Given the description of an element on the screen output the (x, y) to click on. 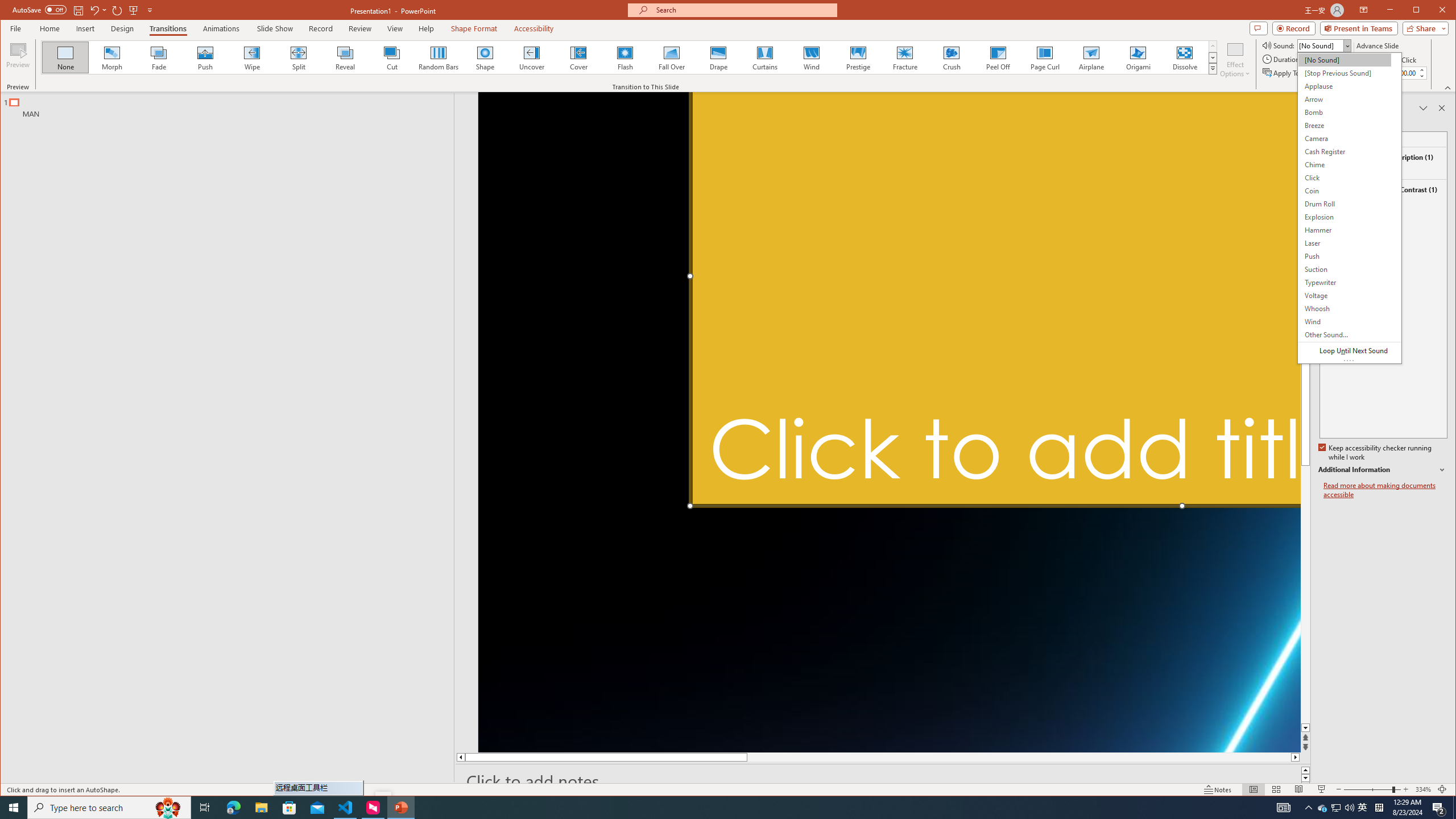
Row Down (1212, 57)
Ribbon Display Options (1364, 9)
Page down (1305, 603)
System (1335, 807)
Page Curl (10, 10)
Random Bars (1045, 57)
Class: MsoCommandBar (437, 57)
Keep accessibility checker running while I work (728, 789)
AutomationID: 4105 (1375, 452)
Tray Input Indicator - Chinese (Simplified, China) (1283, 807)
Fade (1378, 807)
Reading View (158, 57)
Cut (1298, 789)
